Given the description of an element on the screen output the (x, y) to click on. 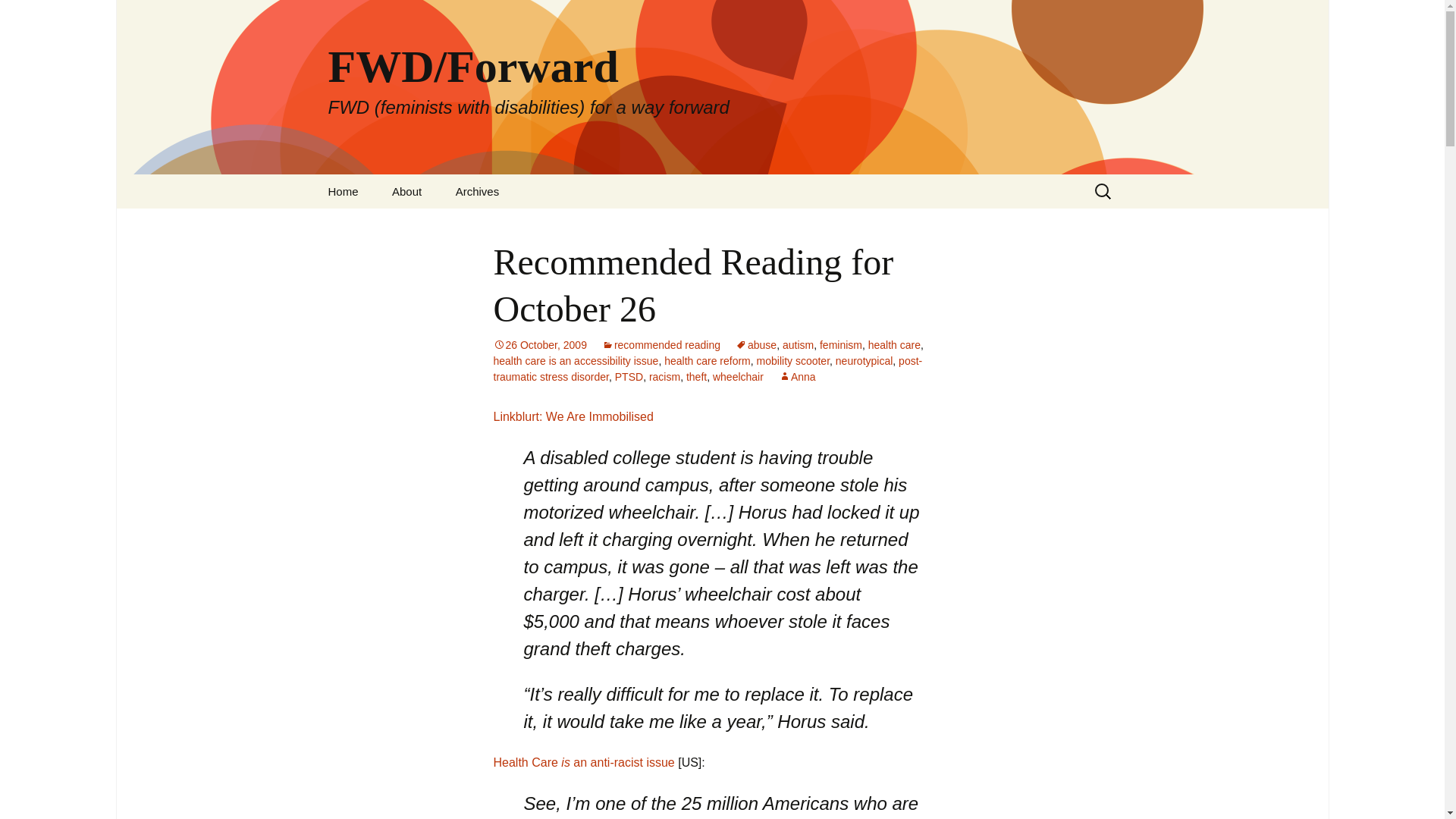
recommended reading (661, 345)
wheelchair (737, 377)
health care (893, 345)
Linkblurt: We Are Immobilised (572, 416)
Home (342, 191)
Archives (478, 191)
PTSD (628, 377)
neurotypical (864, 360)
feminism (840, 345)
health care is an accessibility issue (575, 360)
mobility scooter (793, 360)
View all posts by Anna (796, 377)
autism (798, 345)
